Given the description of an element on the screen output the (x, y) to click on. 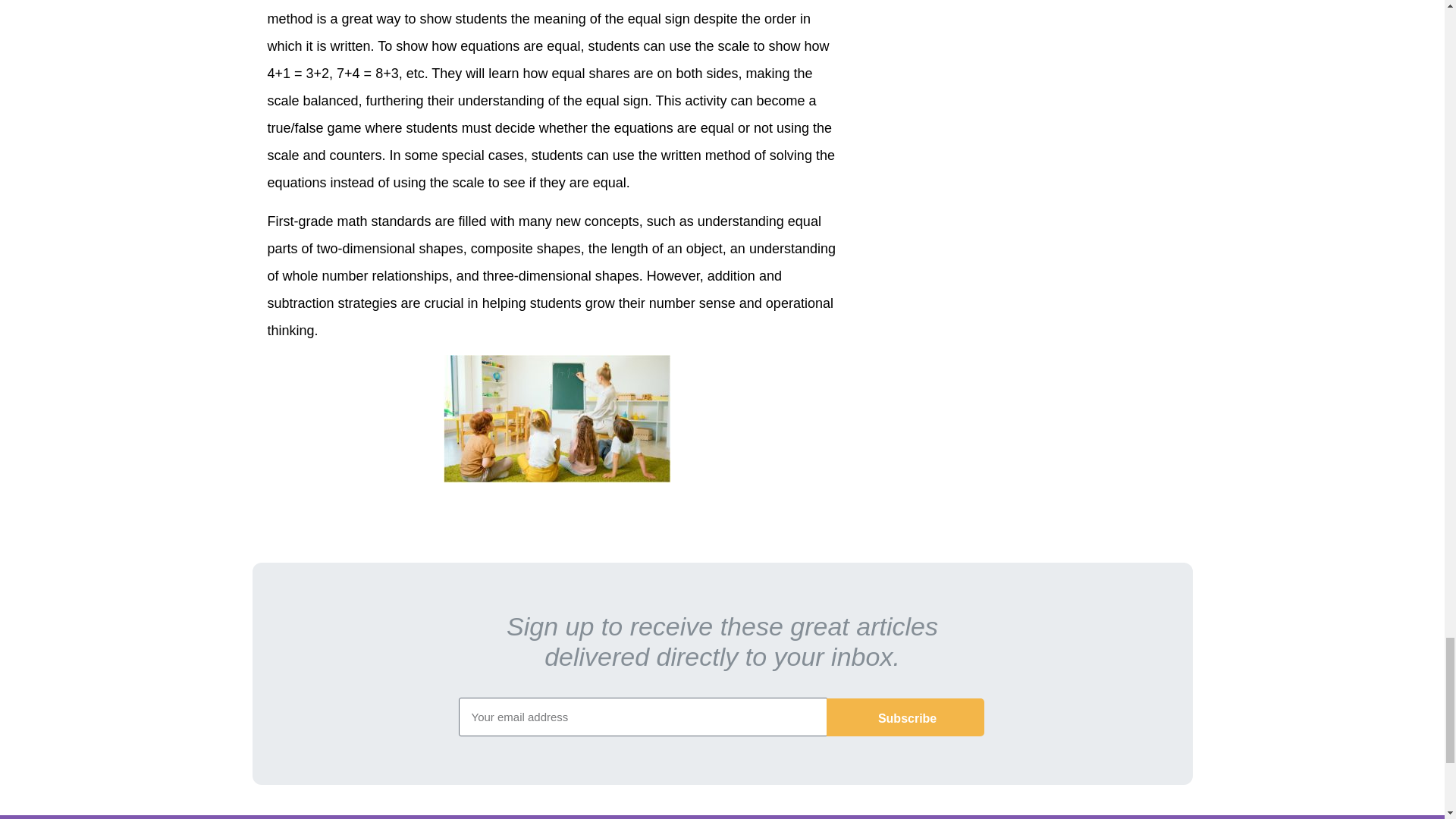
Subscribe (906, 717)
